Given the description of an element on the screen output the (x, y) to click on. 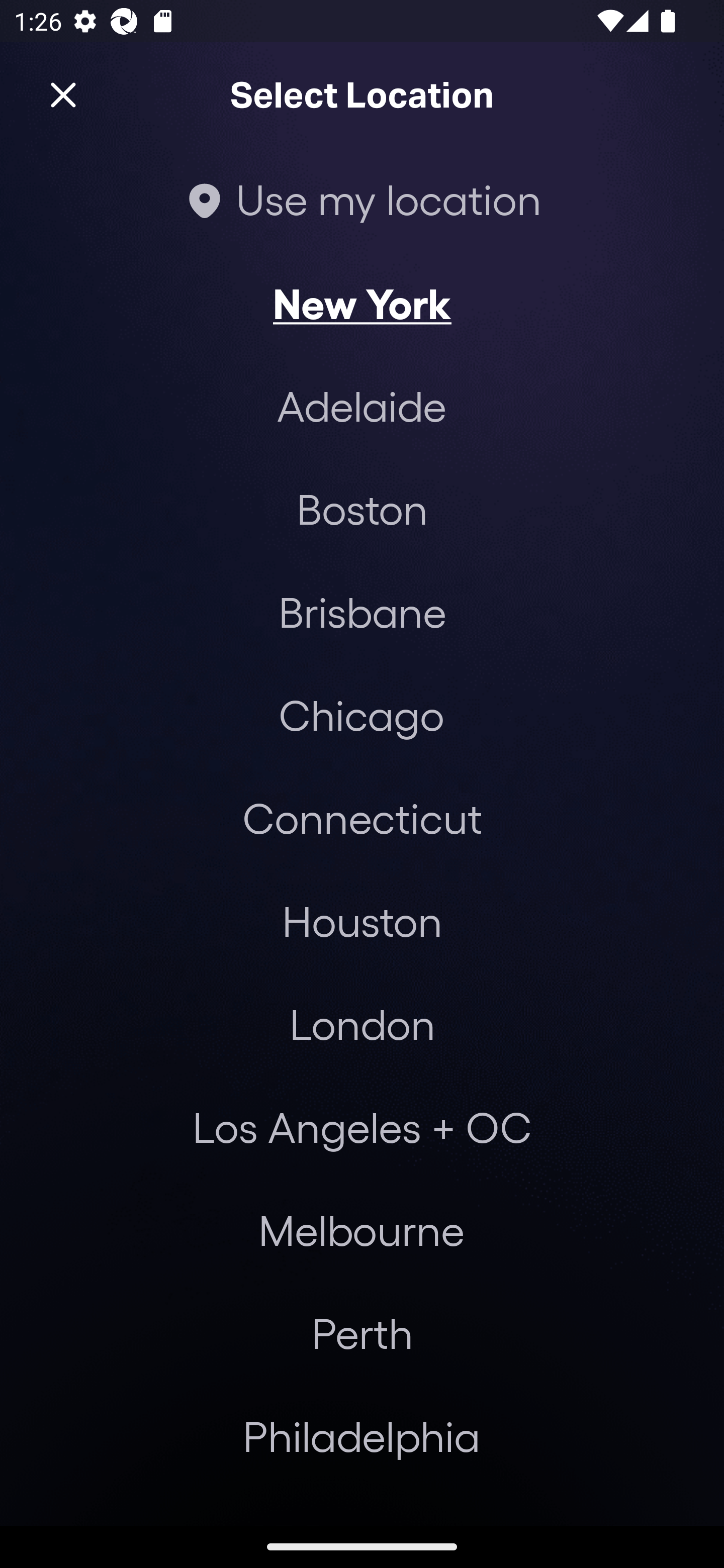
Close (62, 95)
   Use my location (362, 198)
New York (361, 302)
Adelaide (361, 405)
Boston (361, 508)
Brisbane (361, 611)
Chicago (361, 714)
Connecticut (361, 817)
Houston (361, 920)
London (361, 1023)
Los Angeles + OC (361, 1127)
Melbourne (361, 1230)
Perth (361, 1332)
Philadelphia (361, 1436)
